Given the description of an element on the screen output the (x, y) to click on. 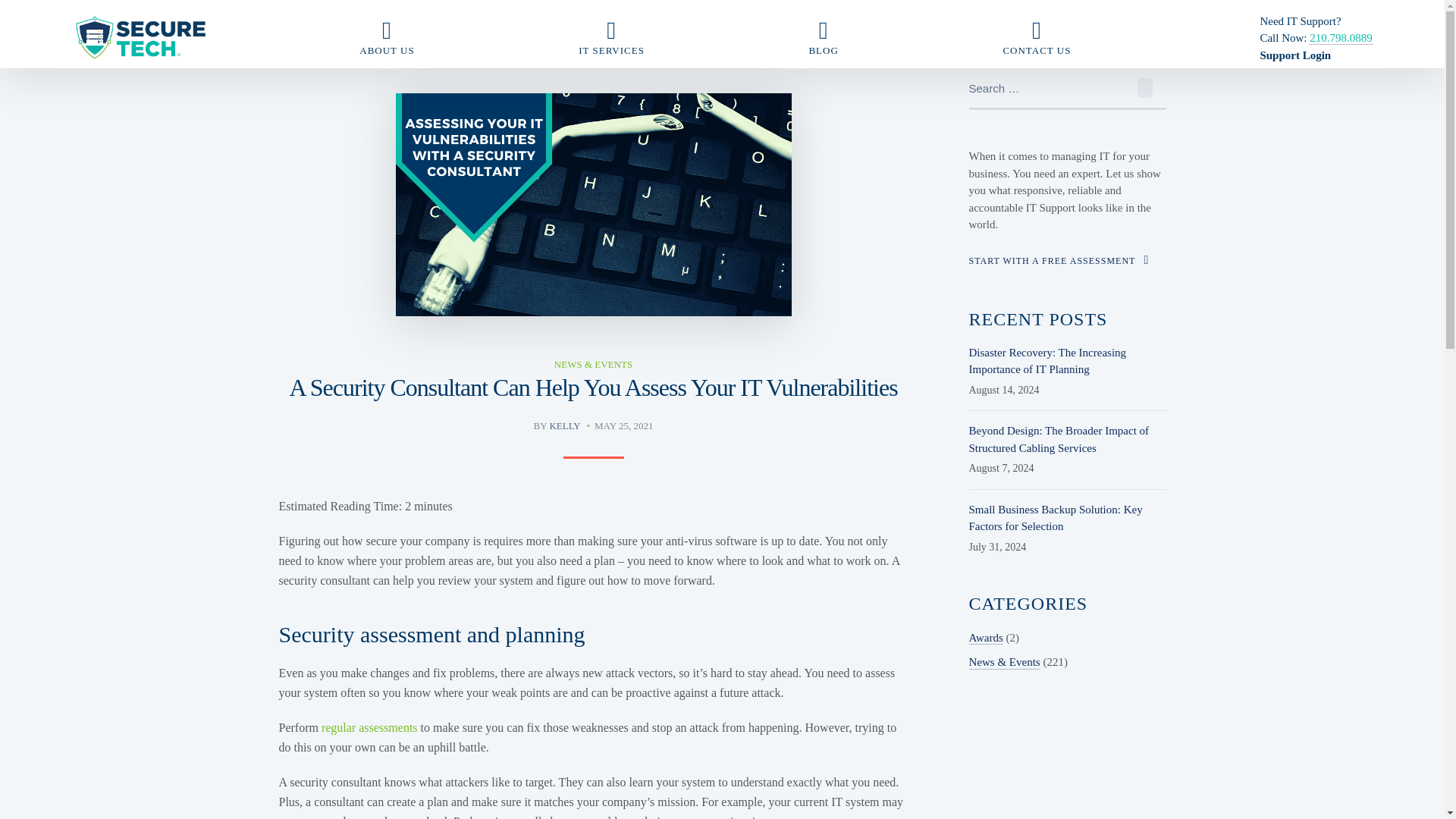
Disaster Recovery: The Increasing Importance of IT Planning (1047, 360)
BLOG (823, 37)
IT SERVICES (611, 37)
START WITH A FREE ASSESSMENT (1059, 259)
ABOUT US (387, 37)
210.798.0889 (1340, 38)
KELLY (563, 425)
Posts by Kelly (563, 425)
regular assessments (369, 727)
